Given the description of an element on the screen output the (x, y) to click on. 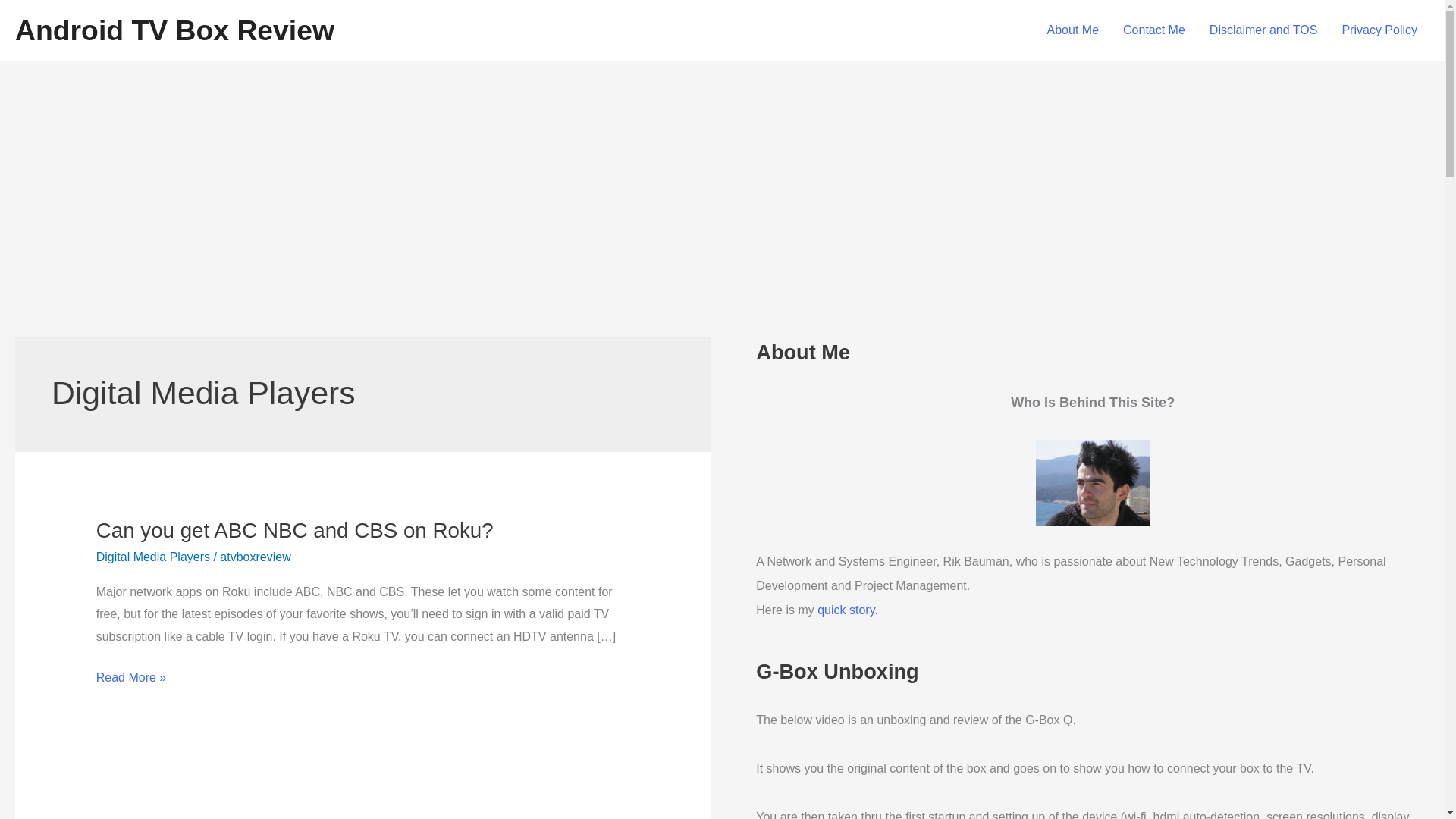
Digital Media Players (152, 556)
About Me (1072, 30)
Privacy Policy (1379, 30)
View all posts by atvboxreview (254, 556)
Contact Me (1153, 30)
Disclaimer and TOS (1263, 30)
Can you get ABC NBC and CBS on Roku? (294, 530)
atvboxreview (254, 556)
Android TV Box Review (174, 29)
